Given the description of an element on the screen output the (x, y) to click on. 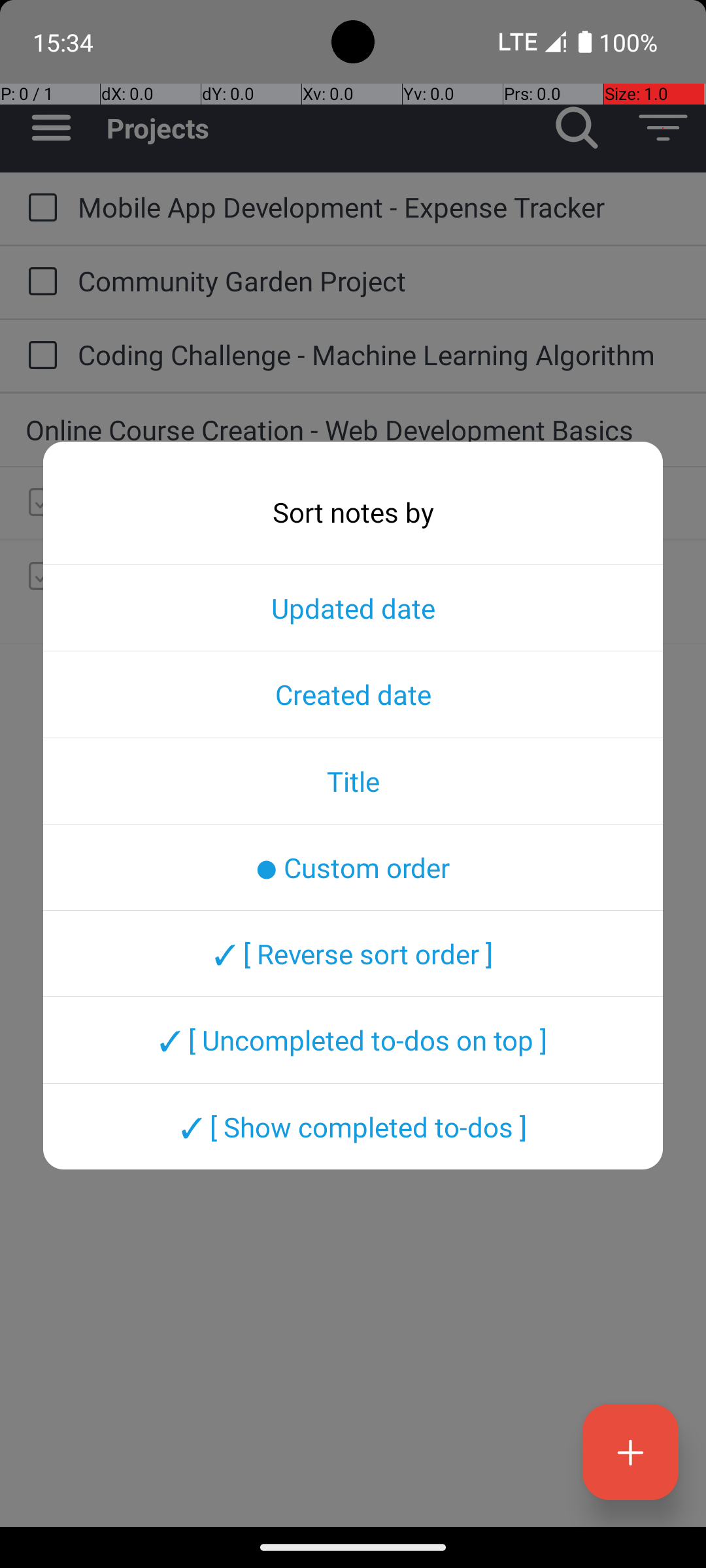
Updated date Element type: android.widget.TextView (352, 607)
Created date Element type: android.widget.TextView (352, 693)
⬤ Custom order Element type: android.widget.TextView (352, 866)
✓ [ Reverse sort order ] Element type: android.widget.TextView (352, 953)
✓ [ Uncompleted to-dos on top ] Element type: android.widget.TextView (352, 1039)
✓ [ Show completed to-dos ] Element type: android.widget.TextView (352, 1126)
to-do: Mobile App Development - Expense Tracker Element type: android.widget.CheckBox (38, 208)
Mobile App Development - Expense Tracker Element type: android.widget.TextView (378, 206)
to-do: Community Garden Project Element type: android.widget.CheckBox (38, 282)
Community Garden Project Element type: android.widget.TextView (378, 280)
to-do: Coding Challenge - Machine Learning Algorithm Element type: android.widget.CheckBox (38, 356)
to-do: Travel Blog - Solo Trip Around Southeast Asia Element type: android.widget.CheckBox (38, 503)
Travel Blog - Solo Trip Around Southeast Asia Element type: android.widget.TextView (378, 501)
to-do: Community Theater Production - Shakespeare Play Element type: android.widget.CheckBox (38, 576)
Community Theater Production - Shakespeare Play Element type: android.widget.TextView (378, 590)
